Given the description of an element on the screen output the (x, y) to click on. 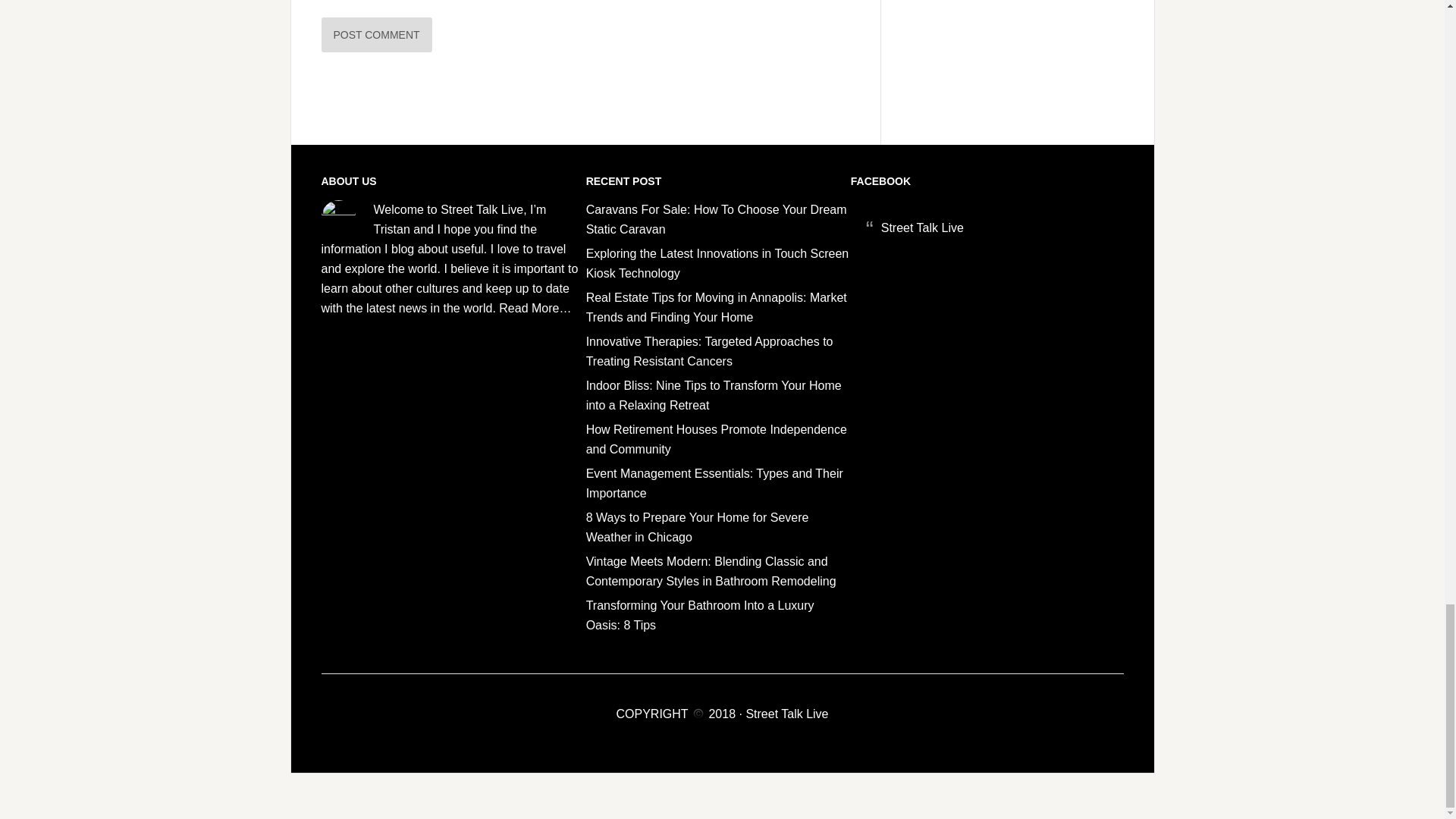
:copyright: (698, 713)
Post Comment (376, 34)
Post Comment (376, 34)
